Given the description of an element on the screen output the (x, y) to click on. 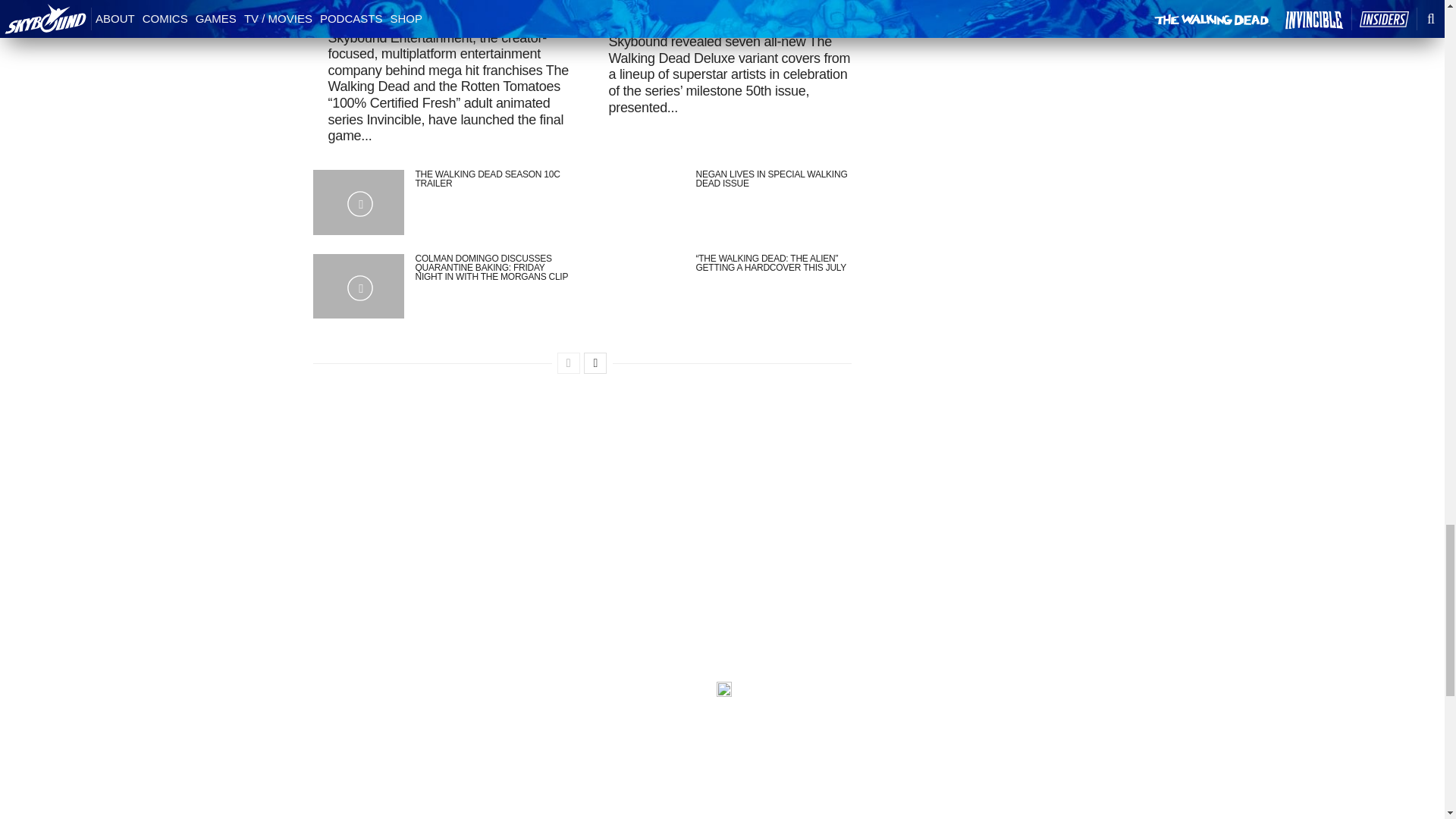
Next (595, 362)
skybound-black-262626 (724, 688)
Previous (568, 362)
